Given the description of an element on the screen output the (x, y) to click on. 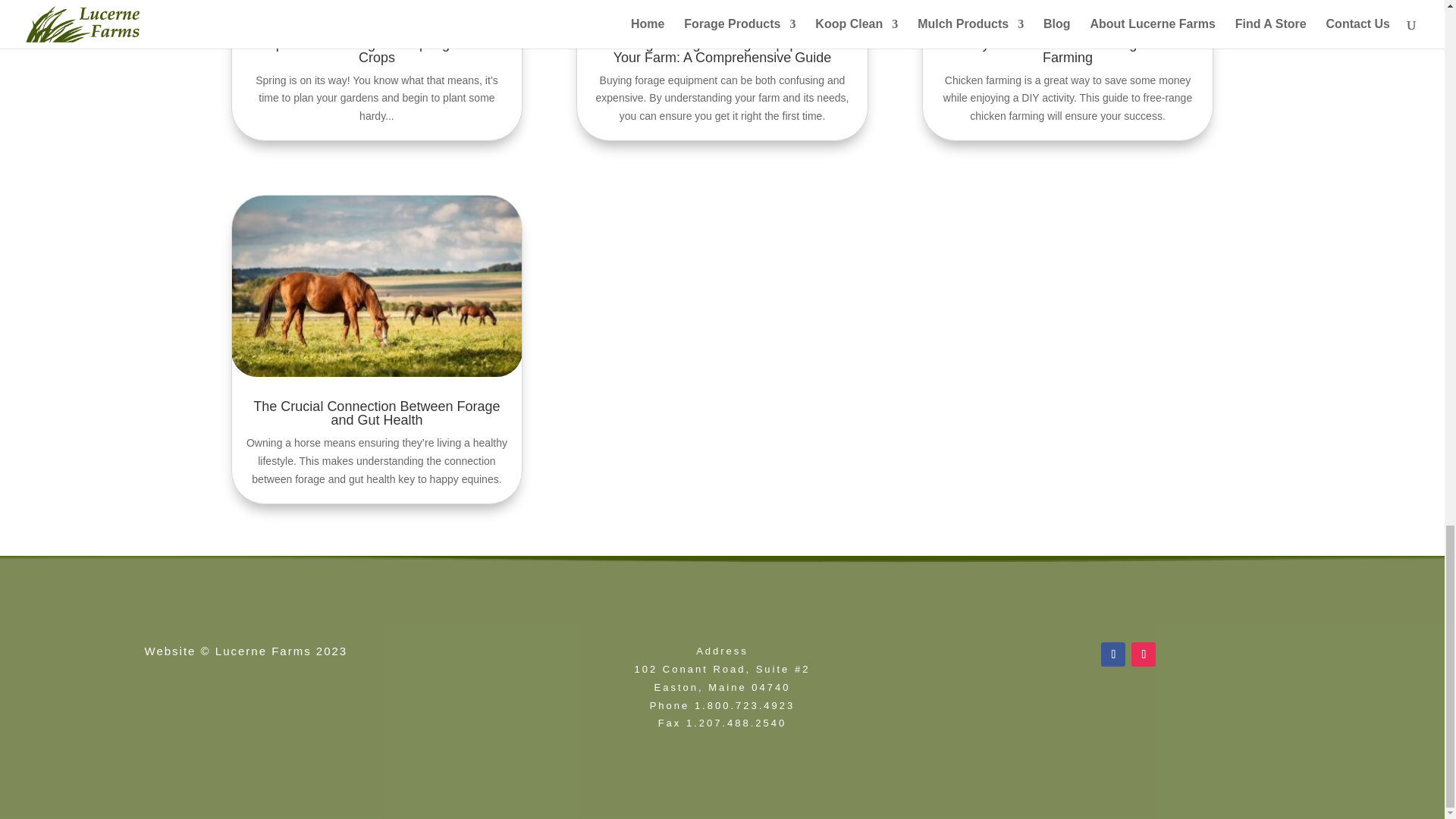
3 Tips for Protecting Your Spring Season Crops (376, 50)
Follow on Facebook (1112, 654)
The Crucial Connection Between Forage and Gut Health (376, 412)
Follow on Instagram (1143, 654)
